Given the description of an element on the screen output the (x, y) to click on. 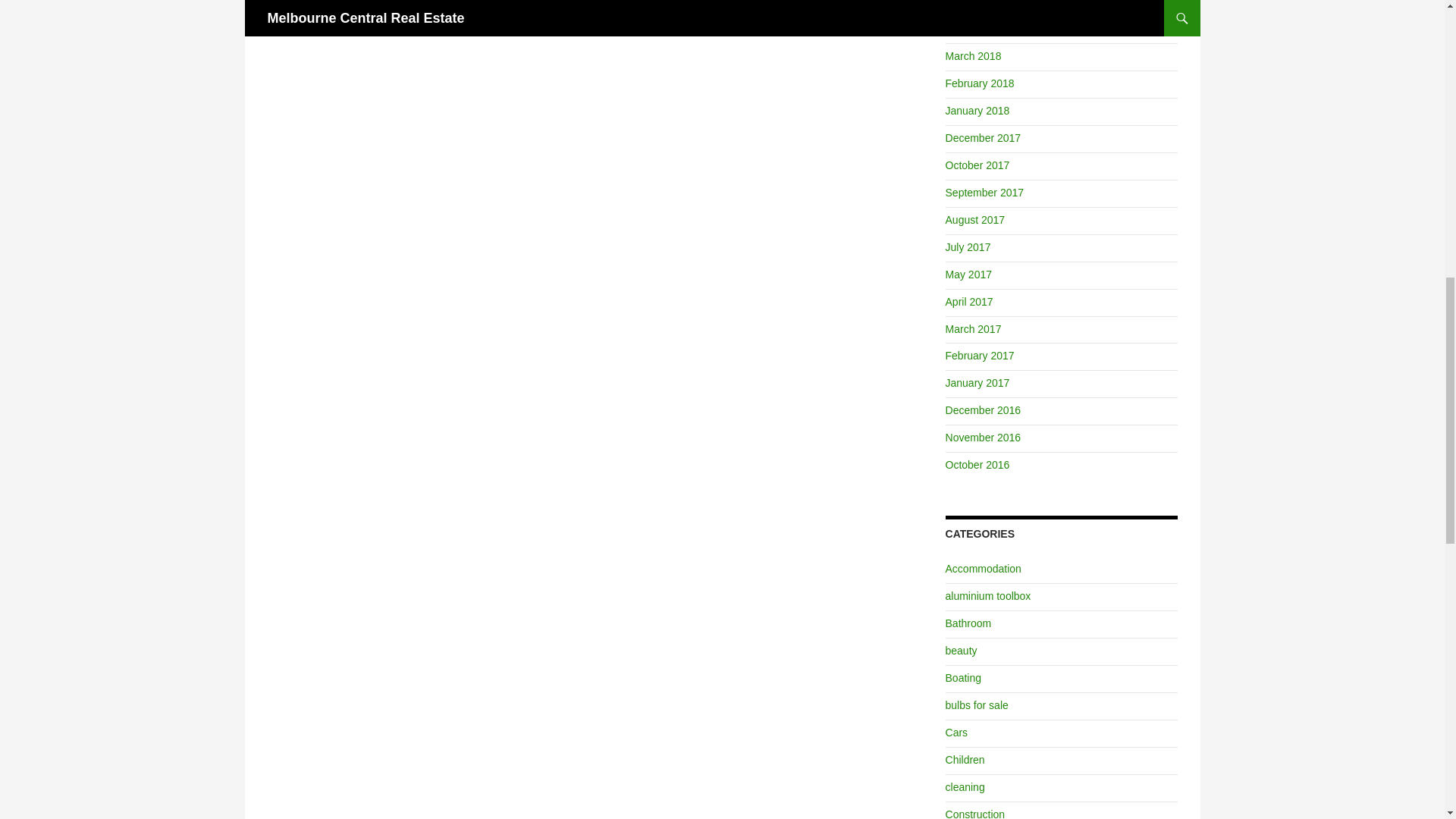
June 2018 (969, 3)
April 2018 (968, 28)
February 2018 (979, 82)
January 2018 (977, 110)
December 2017 (983, 137)
October 2017 (972, 55)
